Given the description of an element on the screen output the (x, y) to click on. 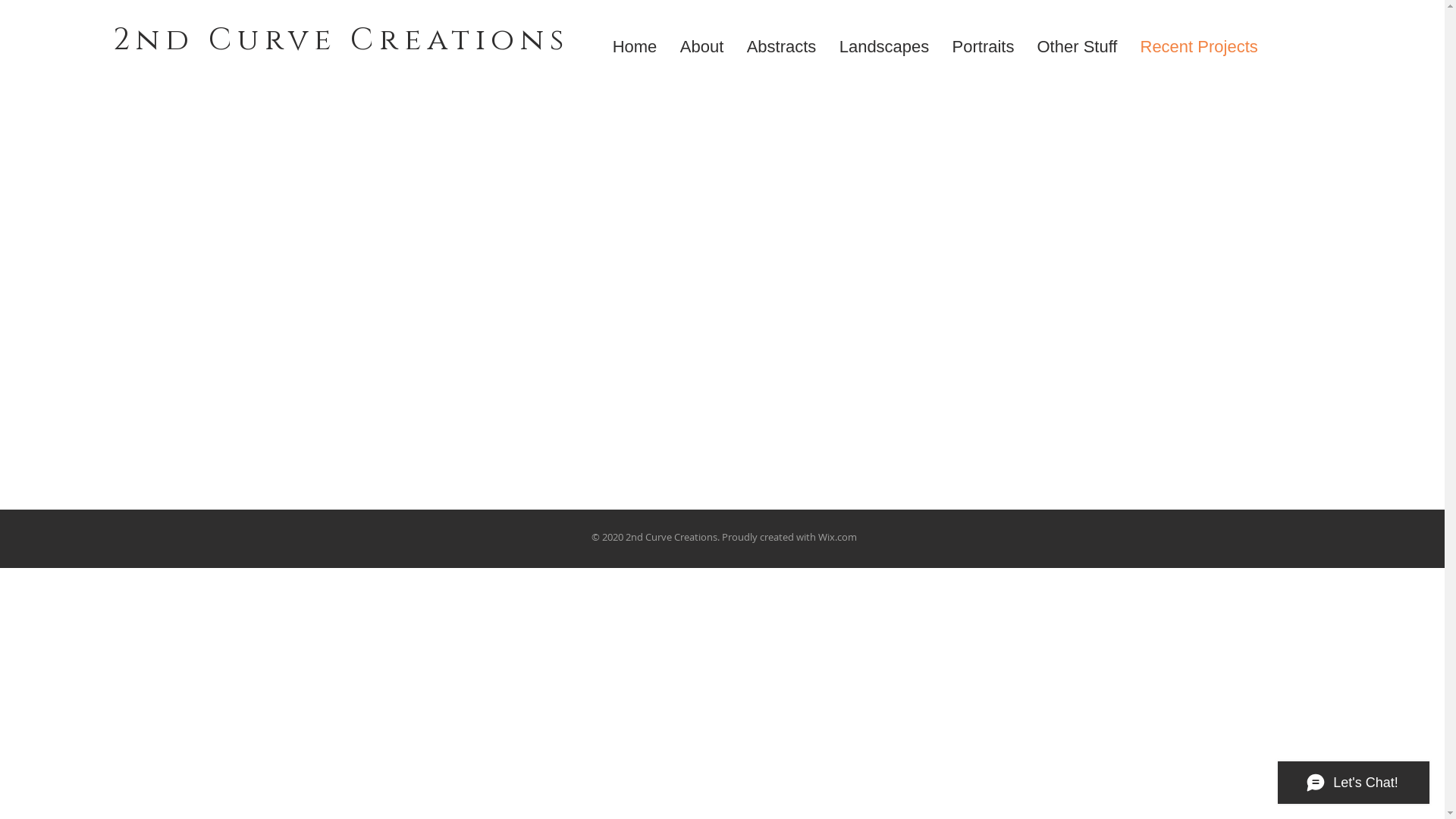
2nd Curve Creations Element type: text (340, 39)
Home Element type: text (634, 46)
Landscapes Element type: text (884, 46)
About Element type: text (701, 46)
Recent Projects Element type: text (1198, 46)
Other Stuff Element type: text (1076, 46)
Portraits Element type: text (982, 46)
Wix.com Element type: text (836, 536)
Abstracts Element type: text (781, 46)
